Given the description of an element on the screen output the (x, y) to click on. 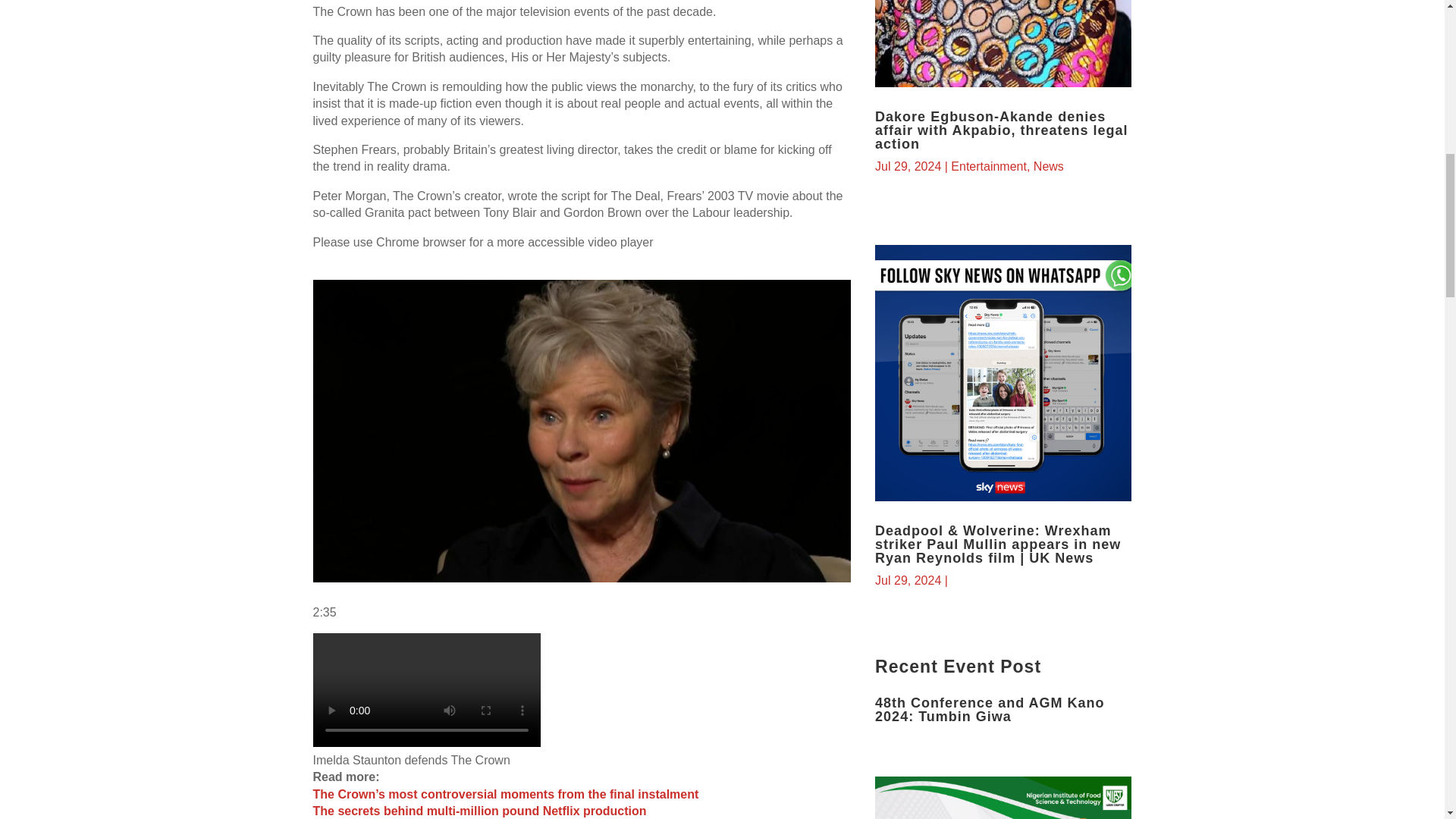
48th Conference and AGM Kano 2024: Tumbin Giwa (989, 709)
The secrets behind multi-million pound Netflix production (479, 810)
News (1048, 165)
Entertainment (988, 165)
